Given the description of an element on the screen output the (x, y) to click on. 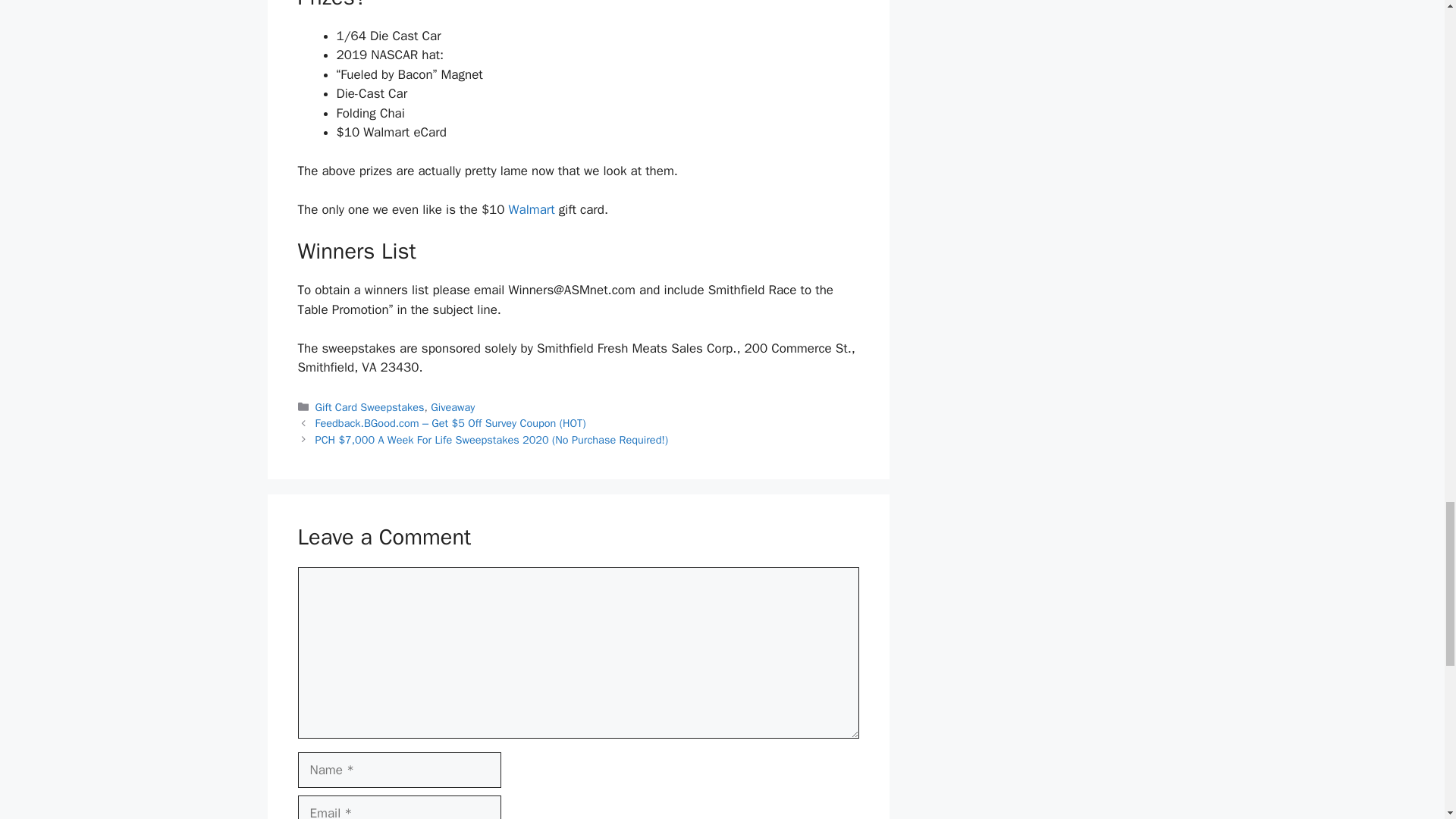
Walmart (531, 209)
Gift Card Sweepstakes (370, 407)
Giveaway (452, 407)
